Given the description of an element on the screen output the (x, y) to click on. 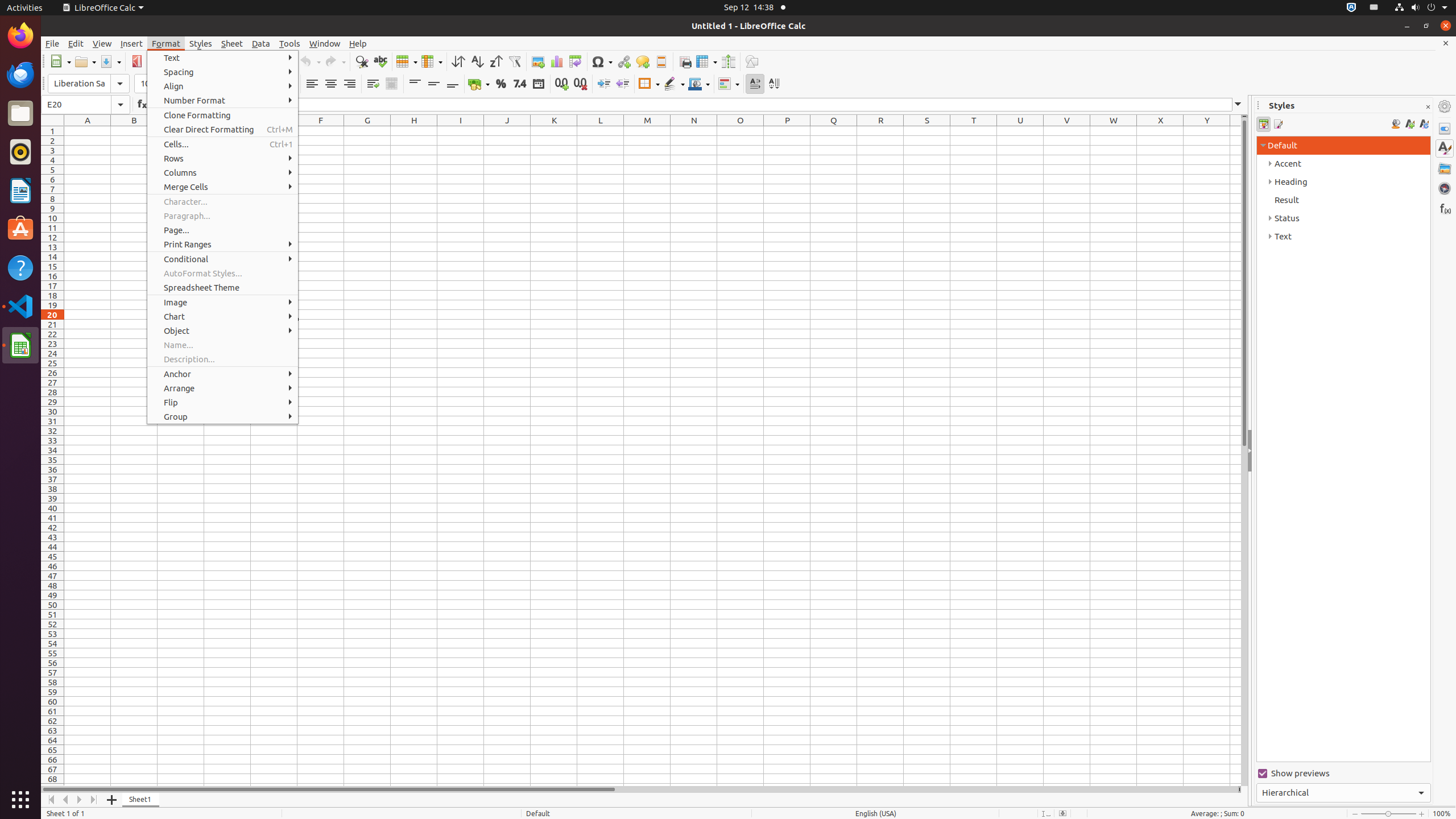
Cell Styles Element type: push-button (1263, 123)
Freeze Rows and Columns Element type: push-button (705, 61)
O1 Element type: table-cell (740, 130)
Gallery Element type: radio-button (1444, 168)
Align Bottom Element type: push-button (452, 83)
